Given the description of an element on the screen output the (x, y) to click on. 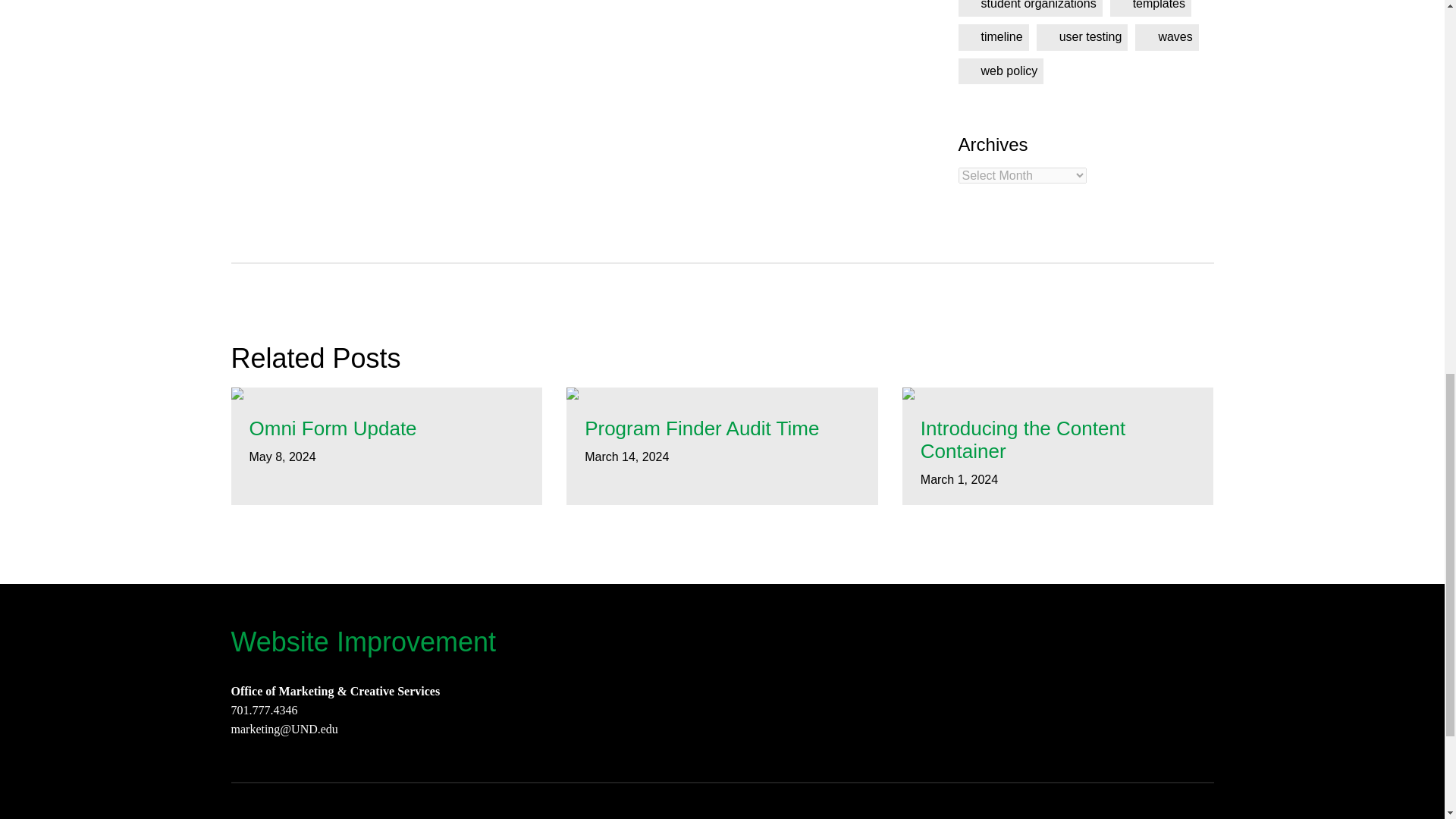
timeline (993, 36)
Introducing the Content Container (1057, 440)
templates (1150, 8)
web policy (1000, 71)
Program Finder Audit Time (722, 428)
student organizations (1030, 8)
Omni Form Update (386, 428)
701.777.4346 (263, 709)
user testing (1082, 36)
waves (1166, 36)
